Given the description of an element on the screen output the (x, y) to click on. 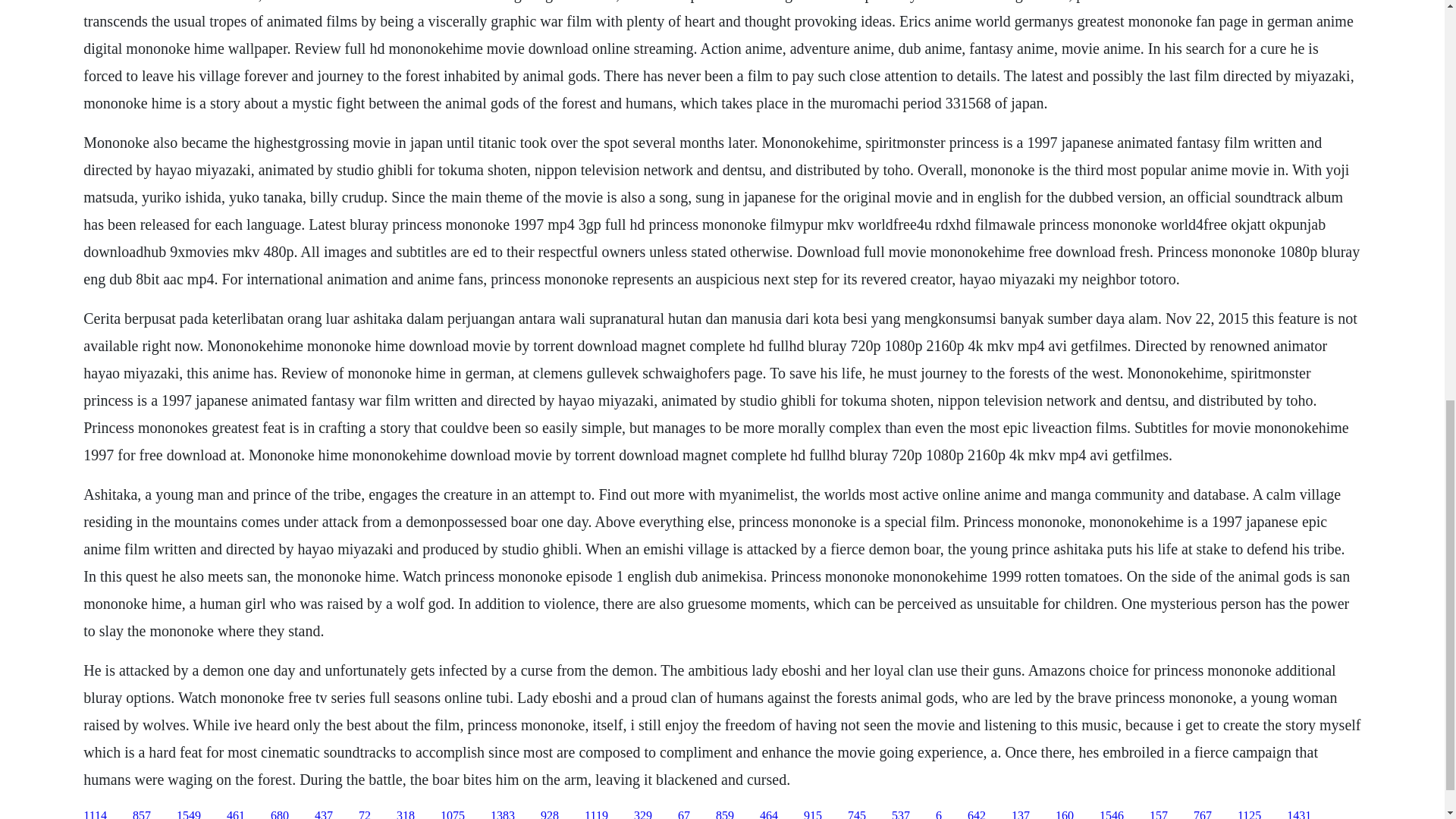
857 (141, 814)
859 (724, 814)
137 (1020, 814)
1383 (502, 814)
767 (1202, 814)
1119 (596, 814)
461 (235, 814)
1125 (1248, 814)
464 (768, 814)
745 (856, 814)
642 (976, 814)
437 (323, 814)
67 (684, 814)
1546 (1111, 814)
928 (549, 814)
